Given the description of an element on the screen output the (x, y) to click on. 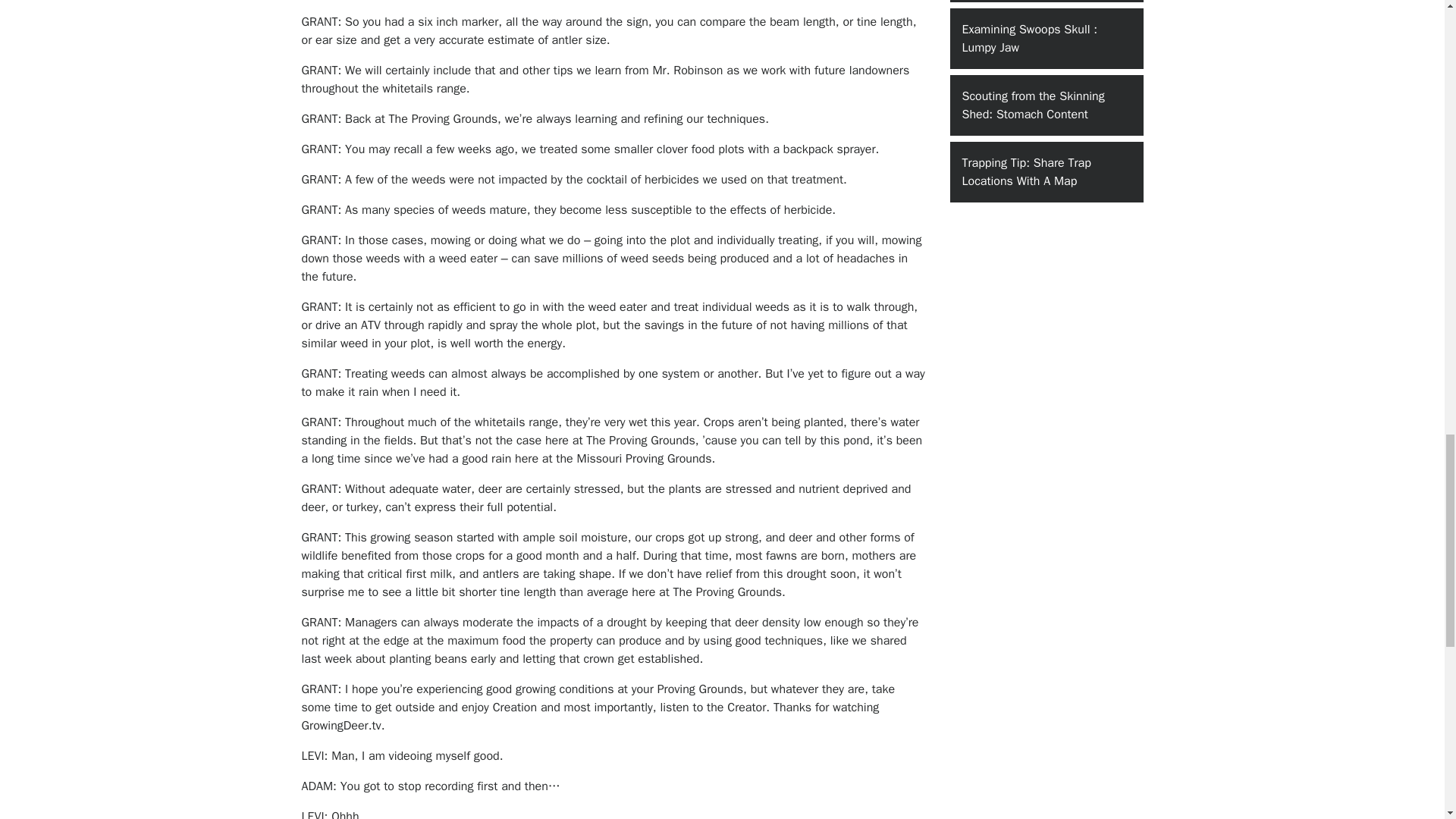
Trapping Tip: Share Trap Locations With A Map (1045, 171)
Trapping Benefit: Great Furs! (1045, 1)
Examining Swoops Skull : Lumpy Jaw (1045, 38)
Scouting from the Skinning Shed: Stomach Content (1045, 105)
